Given the description of an element on the screen output the (x, y) to click on. 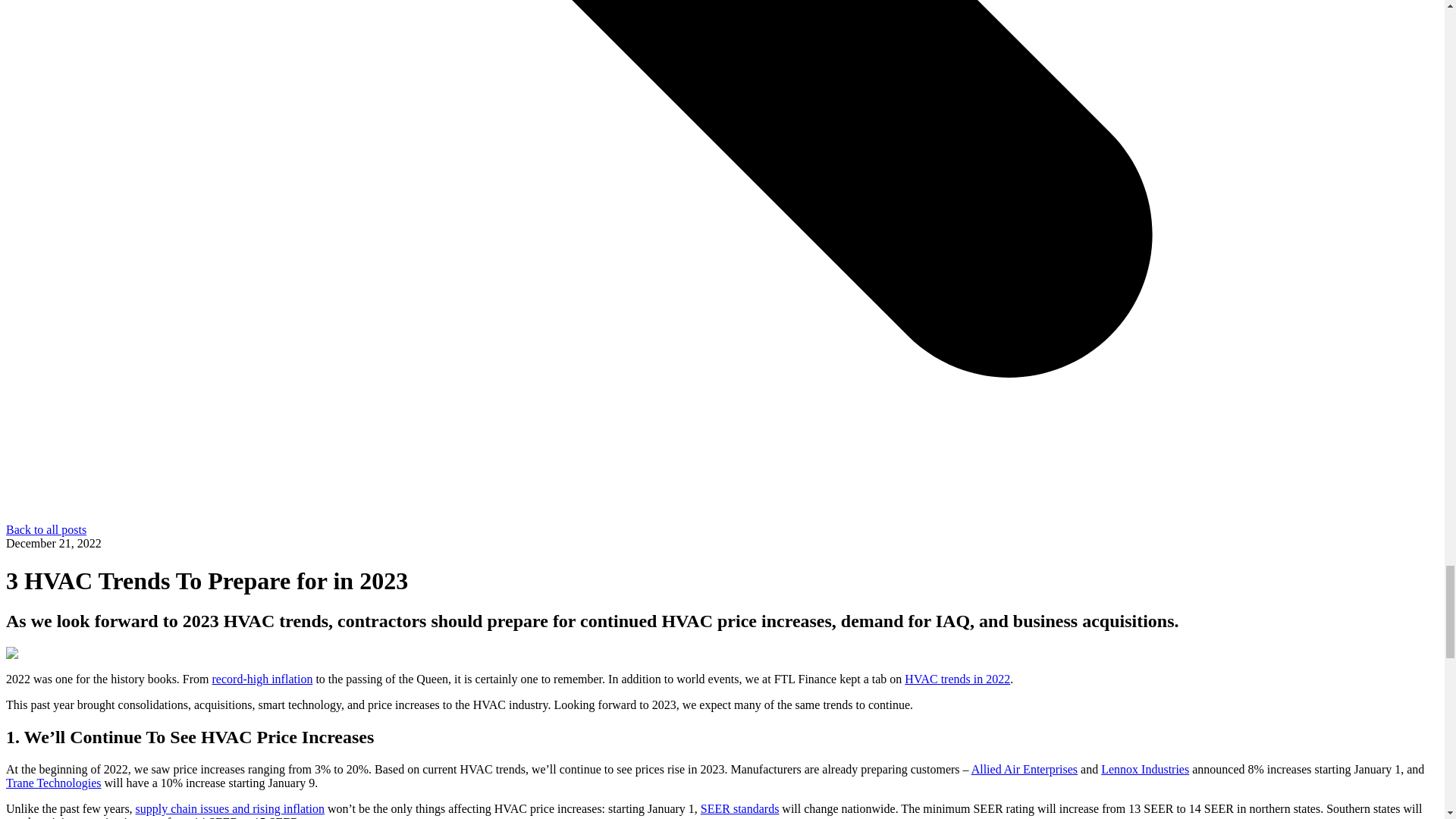
Lennox Industries (1144, 768)
supply chain issues and rising inflation (229, 808)
Allied Air Enterprises (1024, 768)
record-high inflation (262, 678)
SEER standards (739, 808)
Trane Technologies (53, 782)
HVAC trends in 2022 (957, 678)
